Given the description of an element on the screen output the (x, y) to click on. 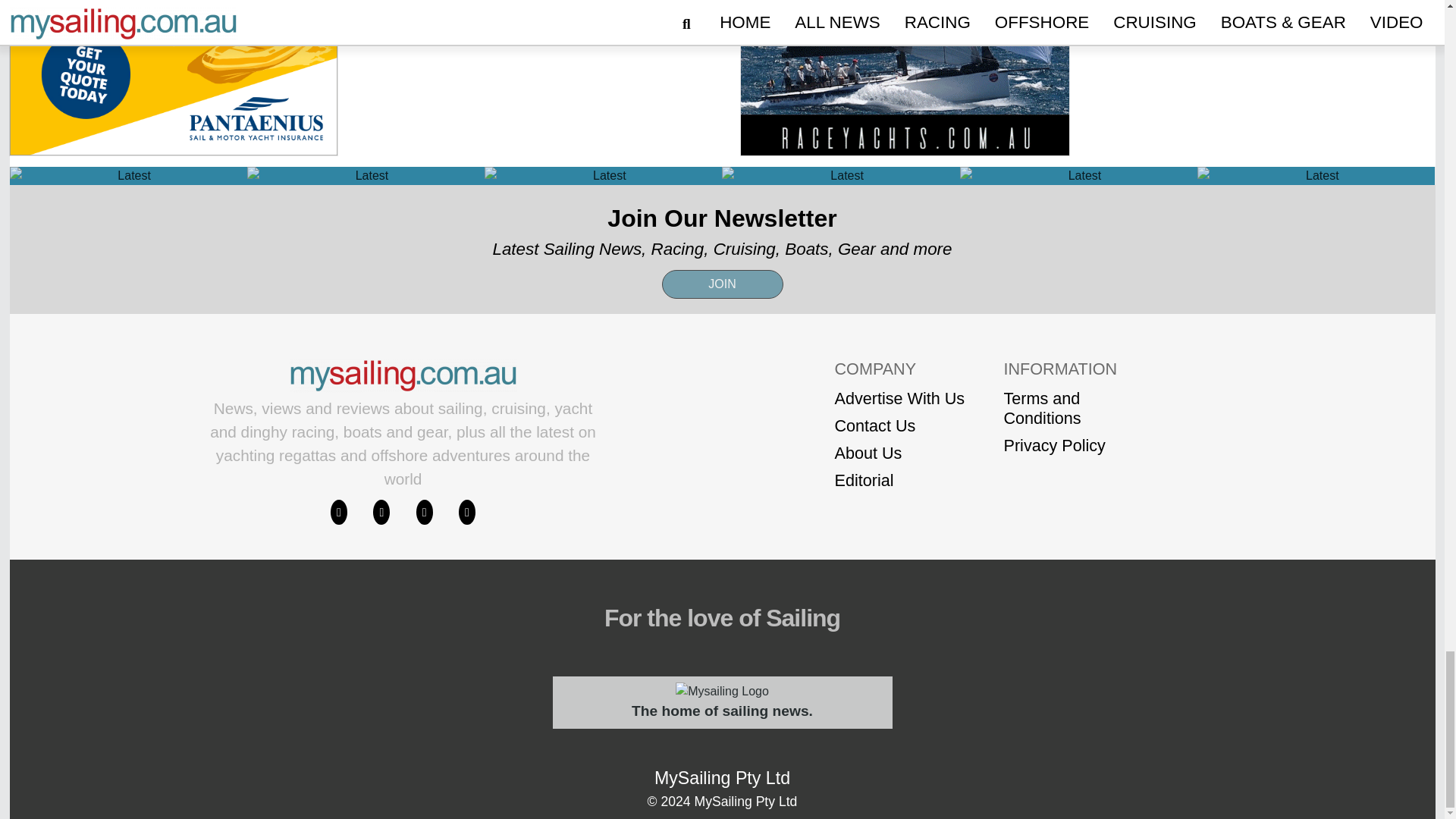
Contact Us (899, 425)
Editorial (899, 480)
Advertise With Us (899, 398)
About Us (899, 453)
